Given the description of an element on the screen output the (x, y) to click on. 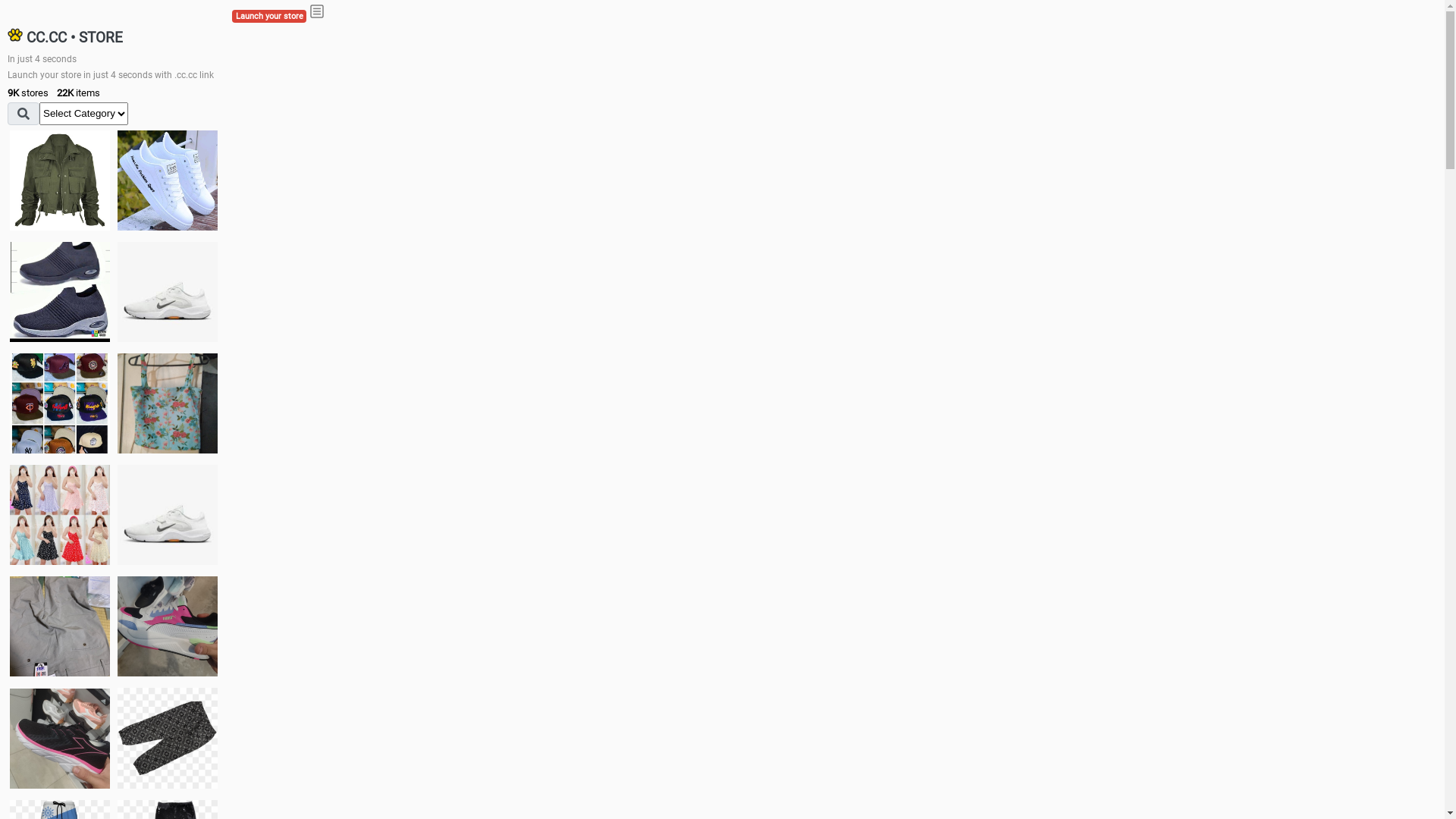
jacket Element type: hover (59, 180)
Dress/square nect top Element type: hover (59, 514)
shoes for boys Element type: hover (59, 291)
Zapatillas pumas Element type: hover (167, 626)
Things we need Element type: hover (59, 403)
Launch your store Element type: text (269, 15)
Shoes Element type: hover (167, 514)
white shoes Element type: hover (167, 180)
Shoes for boys Element type: hover (167, 291)
Short pant Element type: hover (167, 737)
Zapatillas Element type: hover (59, 738)
Ukay cloth Element type: hover (167, 403)
